Given the description of an element on the screen output the (x, y) to click on. 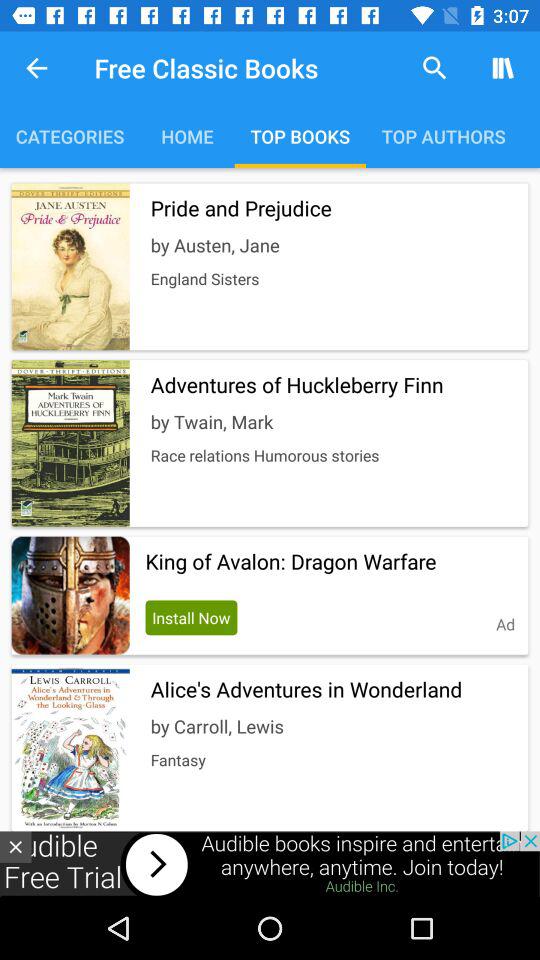
close advertisement (15, 846)
